Given the description of an element on the screen output the (x, y) to click on. 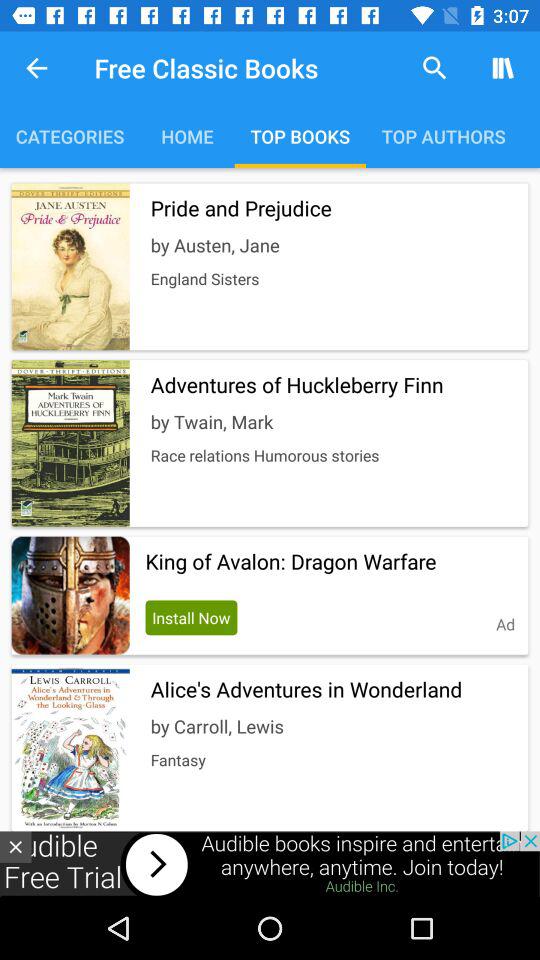
close advertisement (15, 846)
